Given the description of an element on the screen output the (x, y) to click on. 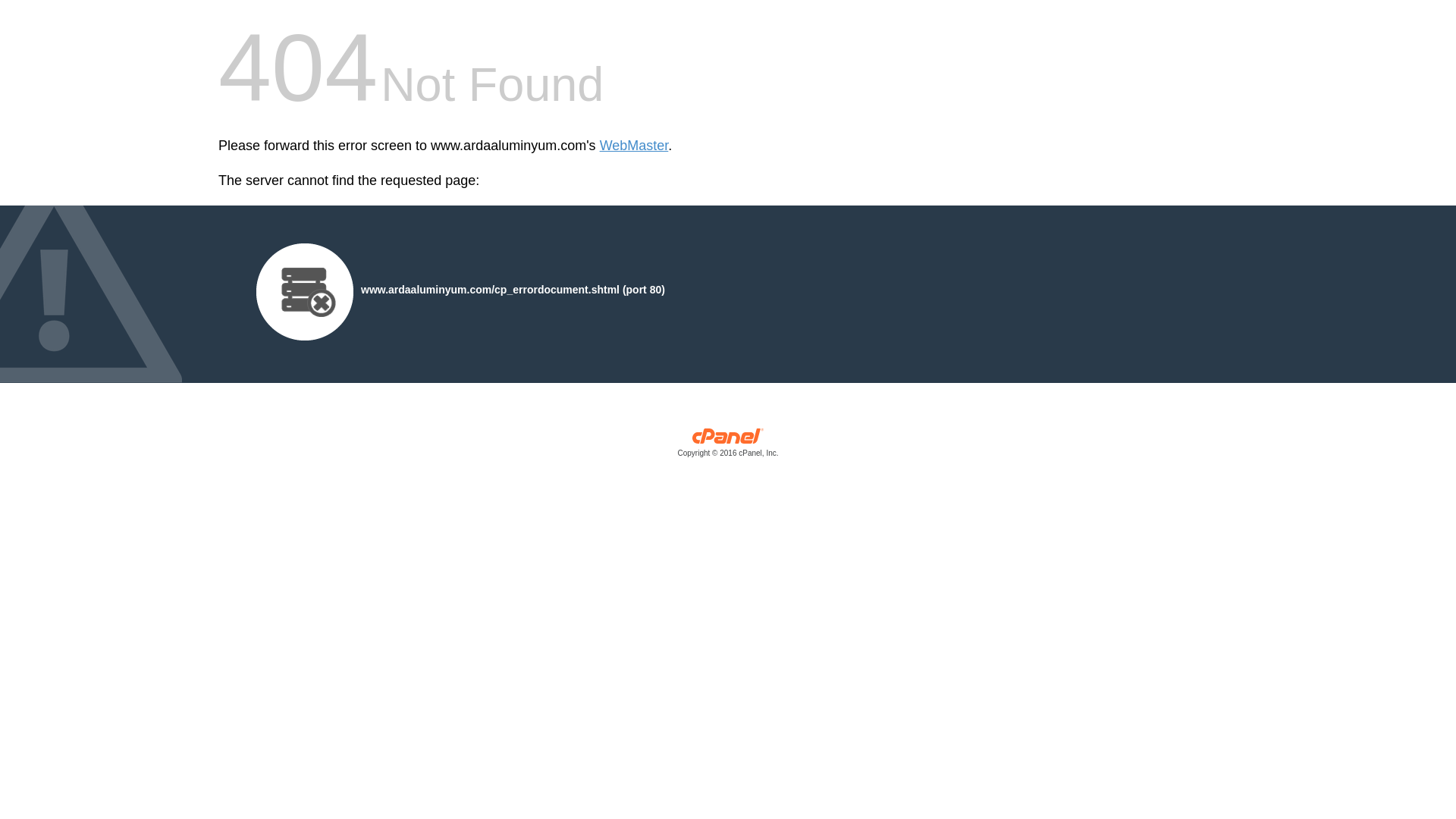
WebMaster (633, 145)
cPanel, Inc. (727, 446)
